Given the description of an element on the screen output the (x, y) to click on. 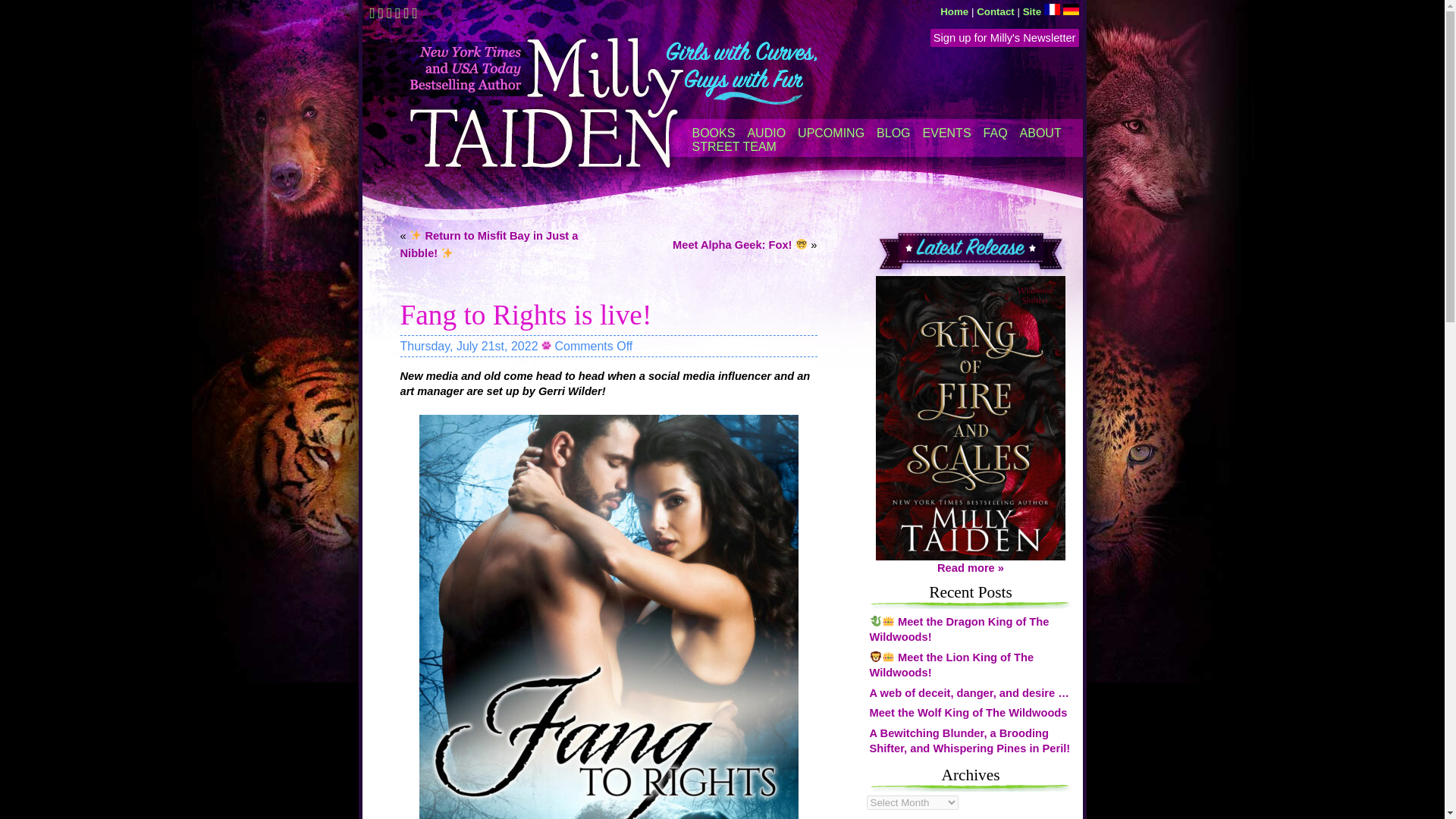
AUDIO (766, 133)
UPCOMING (830, 133)
Site (1032, 11)
Home (954, 11)
FAQ (995, 133)
STREET TEAM (733, 146)
ABOUT (1040, 133)
Sign up for Milly's Newsletter (1004, 37)
BOOKS (713, 133)
Return to Misfit Bay in Just a Nibble! (489, 244)
EVENTS (947, 133)
Contact (995, 11)
Meet Alpha Geek: Fox! (740, 244)
BLOG (893, 133)
